Given the description of an element on the screen output the (x, y) to click on. 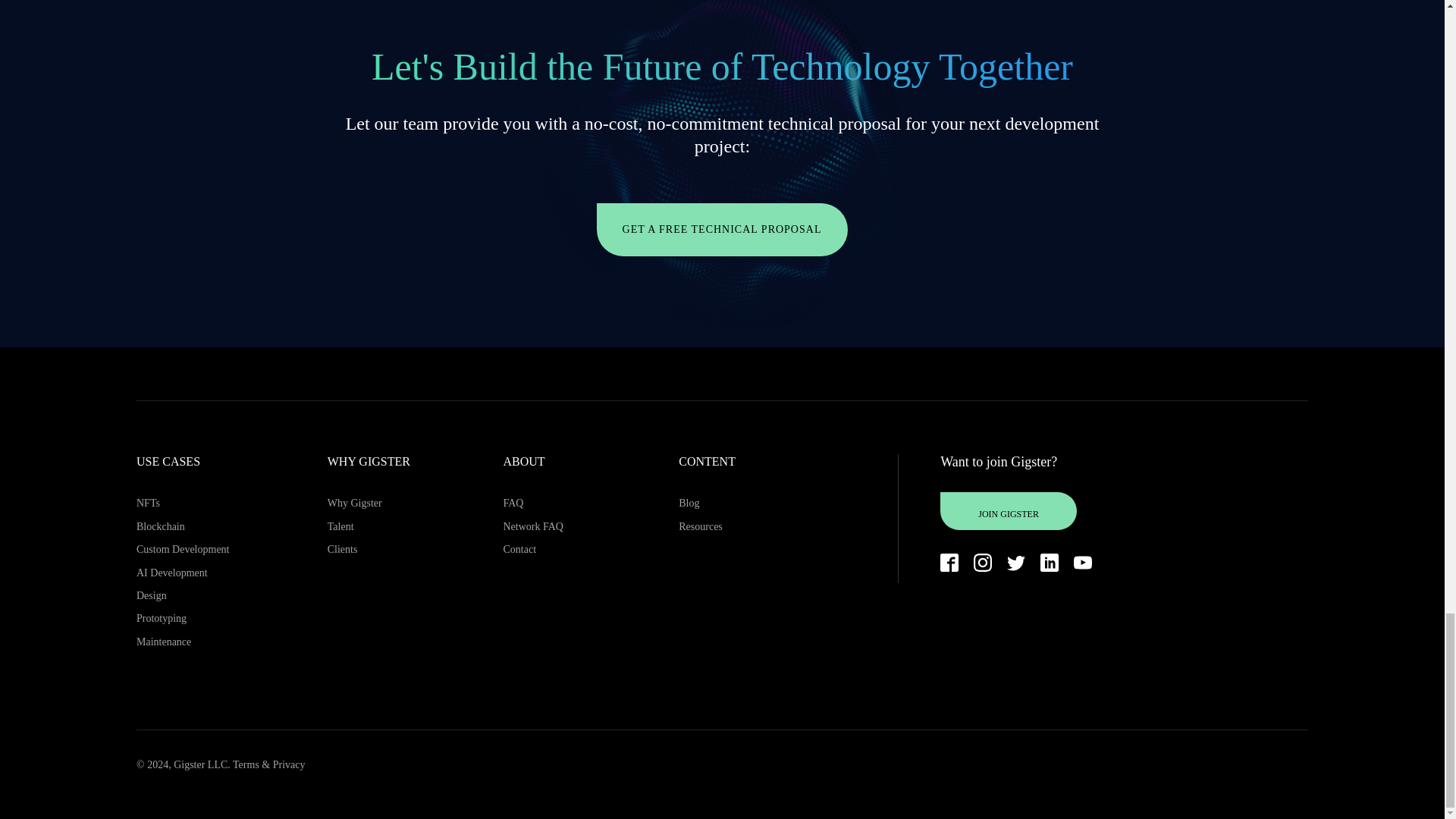
Blockchain (183, 526)
AI Development (183, 572)
GET A FREE TECHNICAL PROPOSAL (722, 229)
Prototyping (183, 618)
Maintenance (183, 641)
NFTs (183, 503)
Design (183, 595)
Custom Development (183, 549)
